Given the description of an element on the screen output the (x, y) to click on. 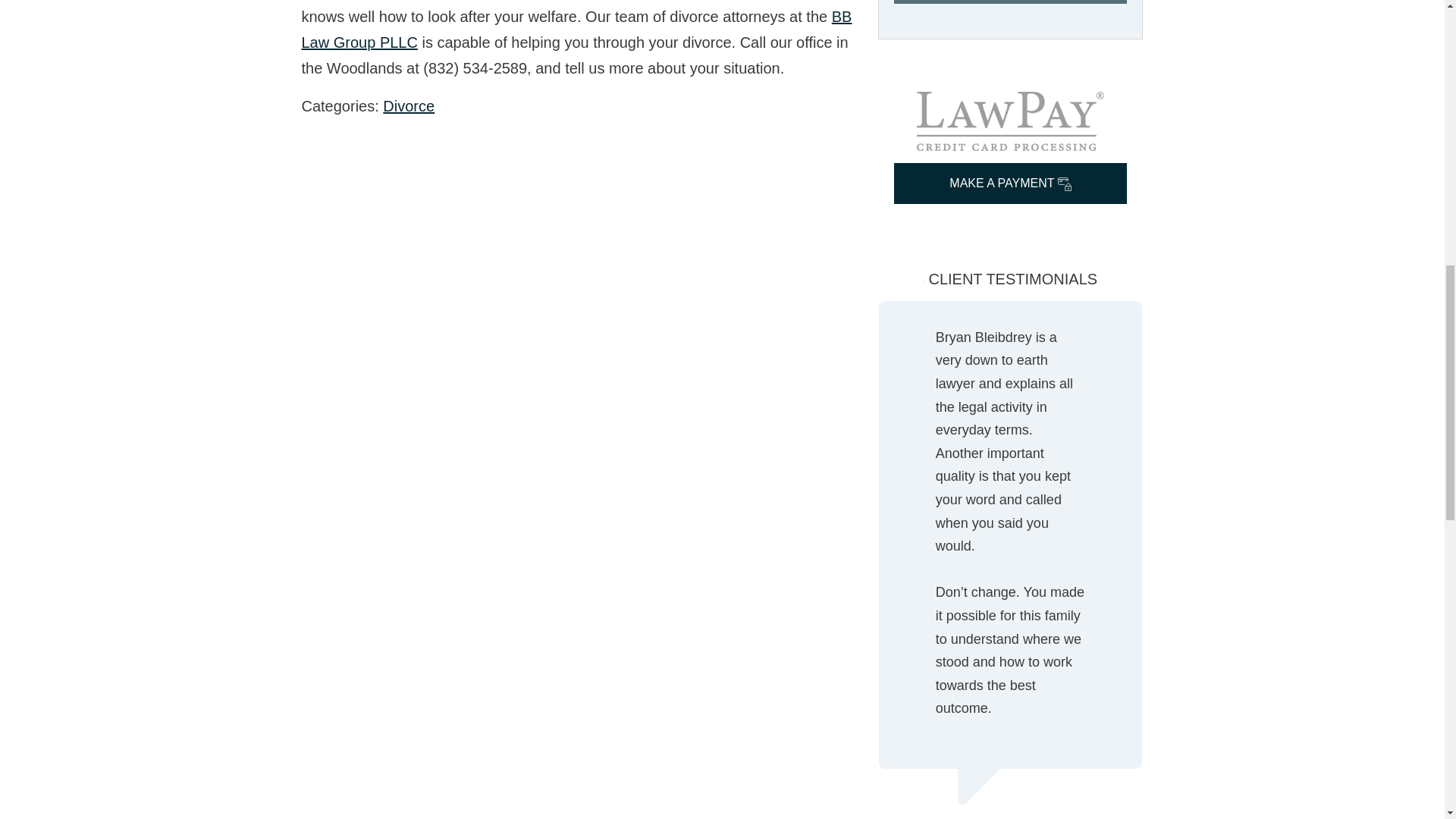
MAKE A PAYMENT (1009, 182)
BB Law Group PLLC (576, 29)
Divorce (407, 105)
